Given the description of an element on the screen output the (x, y) to click on. 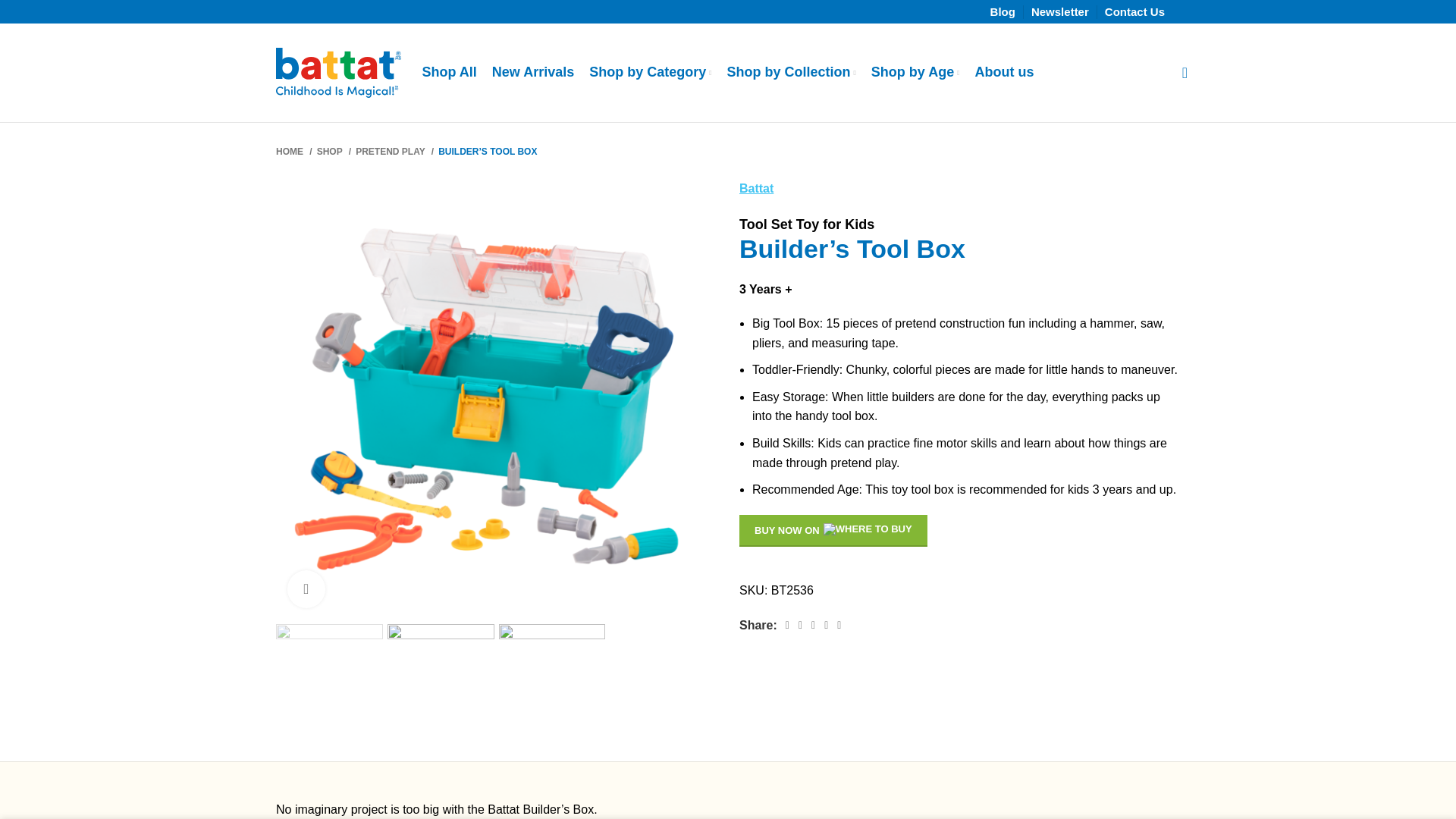
Blog (1002, 13)
Shop All (449, 72)
SHOP (333, 151)
New Arrivals (532, 72)
Shop by Category (650, 72)
Contact Us (1134, 13)
Newsletter (1059, 13)
Shop by Age (914, 72)
Shop by Collection (791, 72)
